Given the description of an element on the screen output the (x, y) to click on. 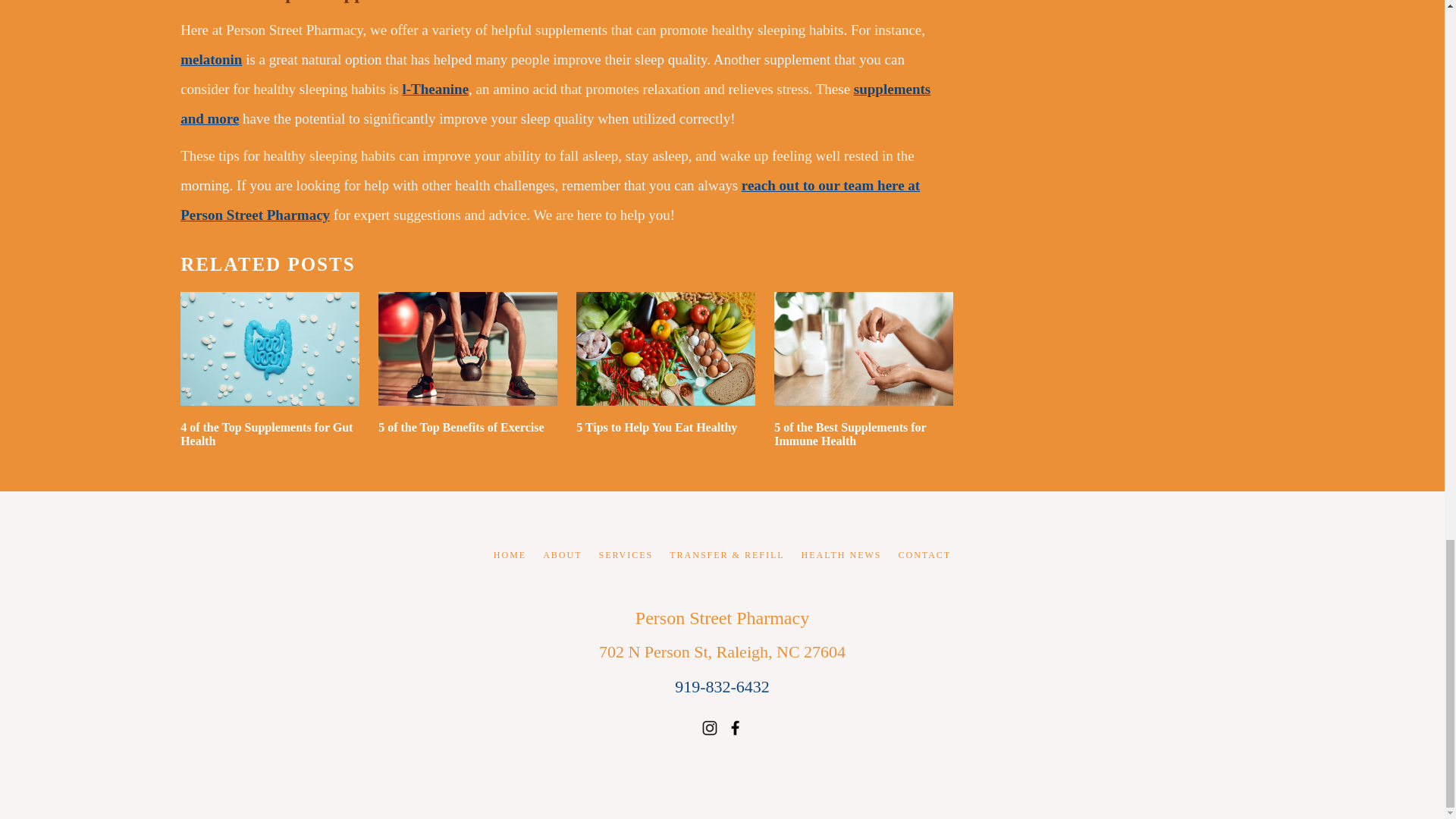
4 of the Top Supplements for Gut Health (269, 369)
HOME (518, 555)
l-Theanine (434, 89)
reach out to our team here at Person Street Pharmacy (550, 199)
melatonin (210, 59)
5 Tips to Help You Eat Healthy (665, 369)
5 of the Top Benefits of Exercise (467, 369)
supplements and more (555, 103)
5 of the Best Supplements for Immune Health (863, 369)
